Given the description of an element on the screen output the (x, y) to click on. 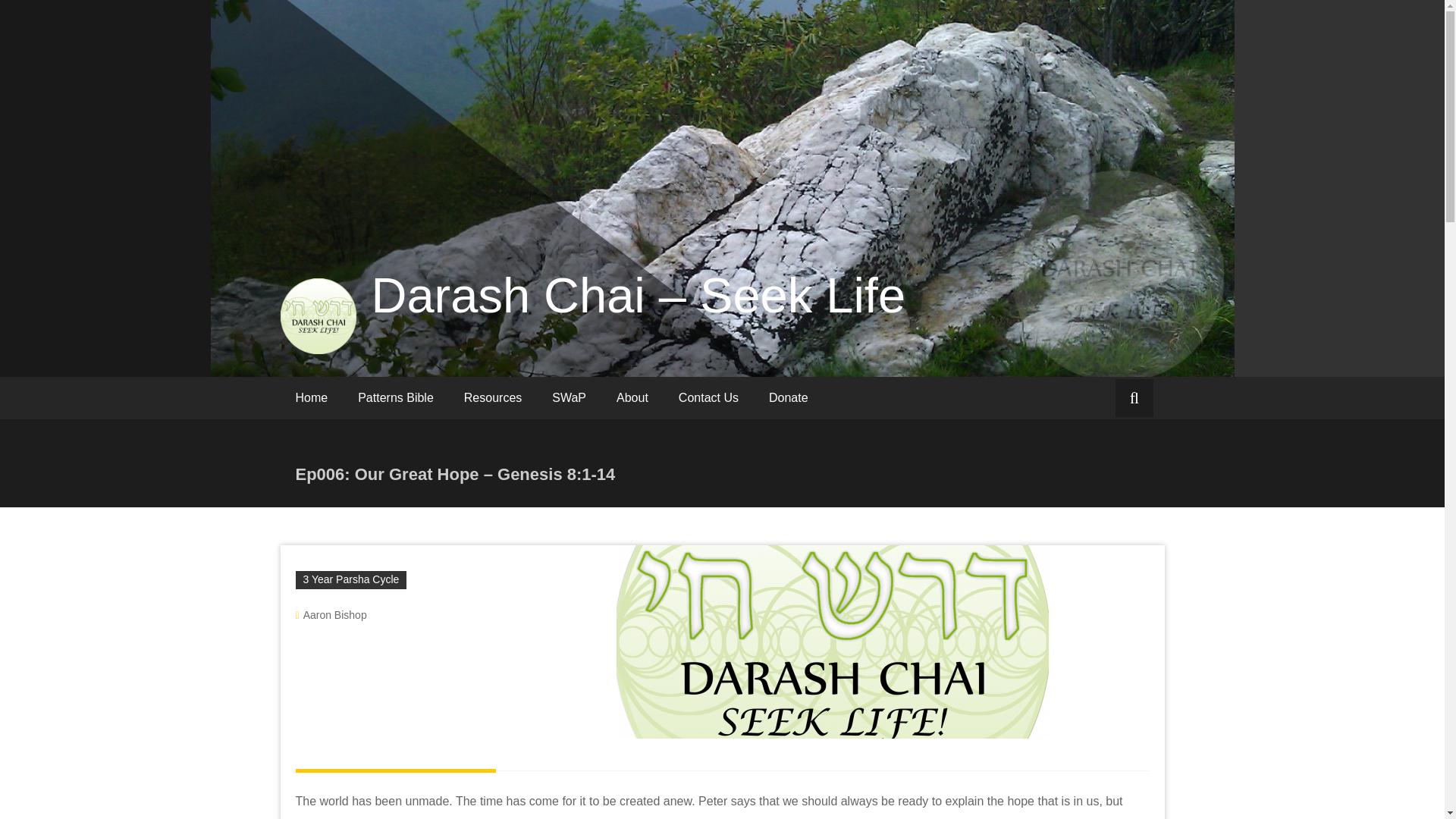
Patterns Bible (395, 397)
SWaP (569, 397)
Donate (789, 397)
Contact Us (708, 397)
Aaron Bishop (334, 614)
Resources (492, 397)
Home (312, 397)
3 Year Parsha Cycle (351, 579)
About (632, 397)
